Given the description of an element on the screen output the (x, y) to click on. 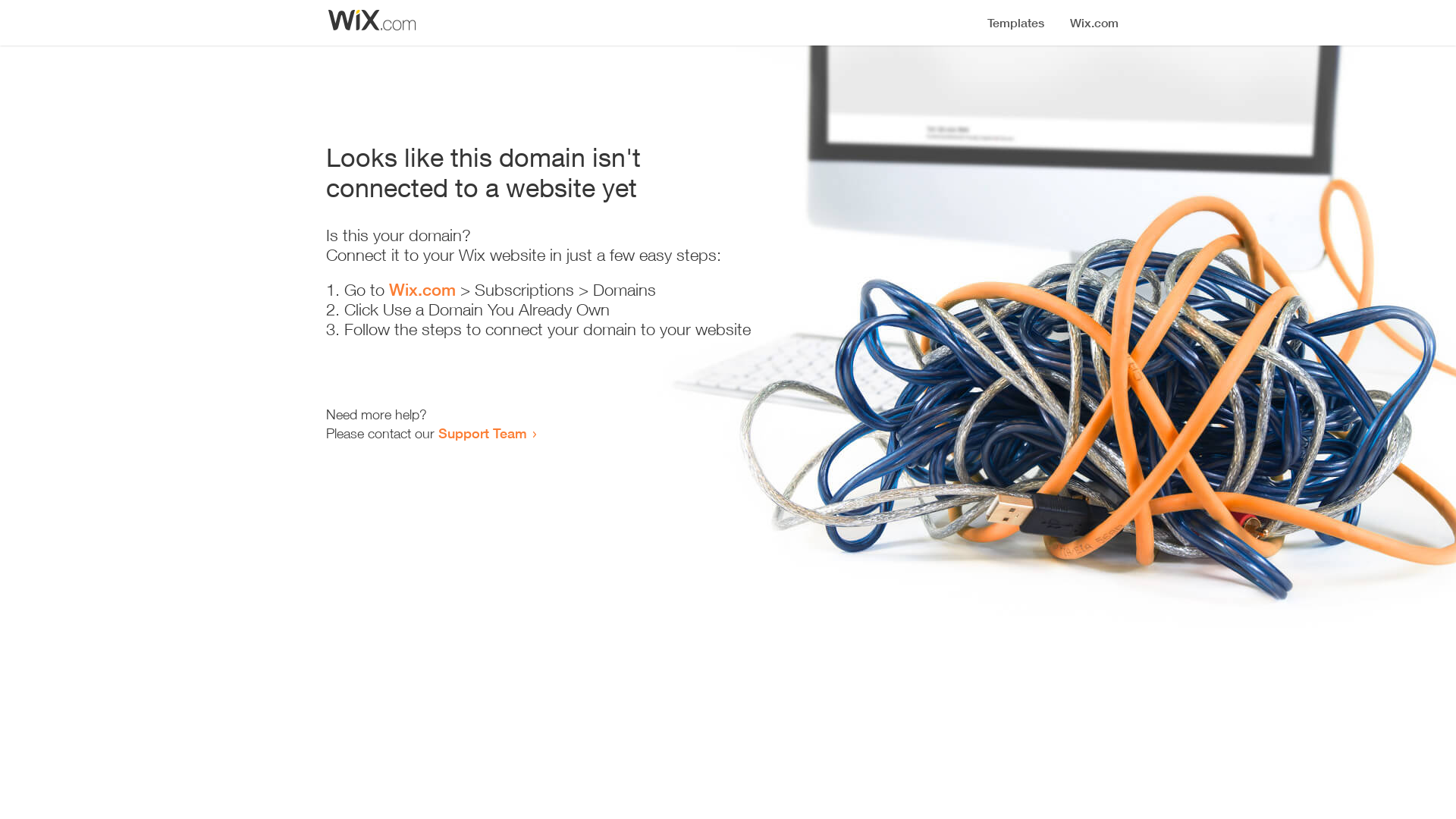
Wix.com Element type: text (422, 289)
Support Team Element type: text (482, 432)
